Given the description of an element on the screen output the (x, y) to click on. 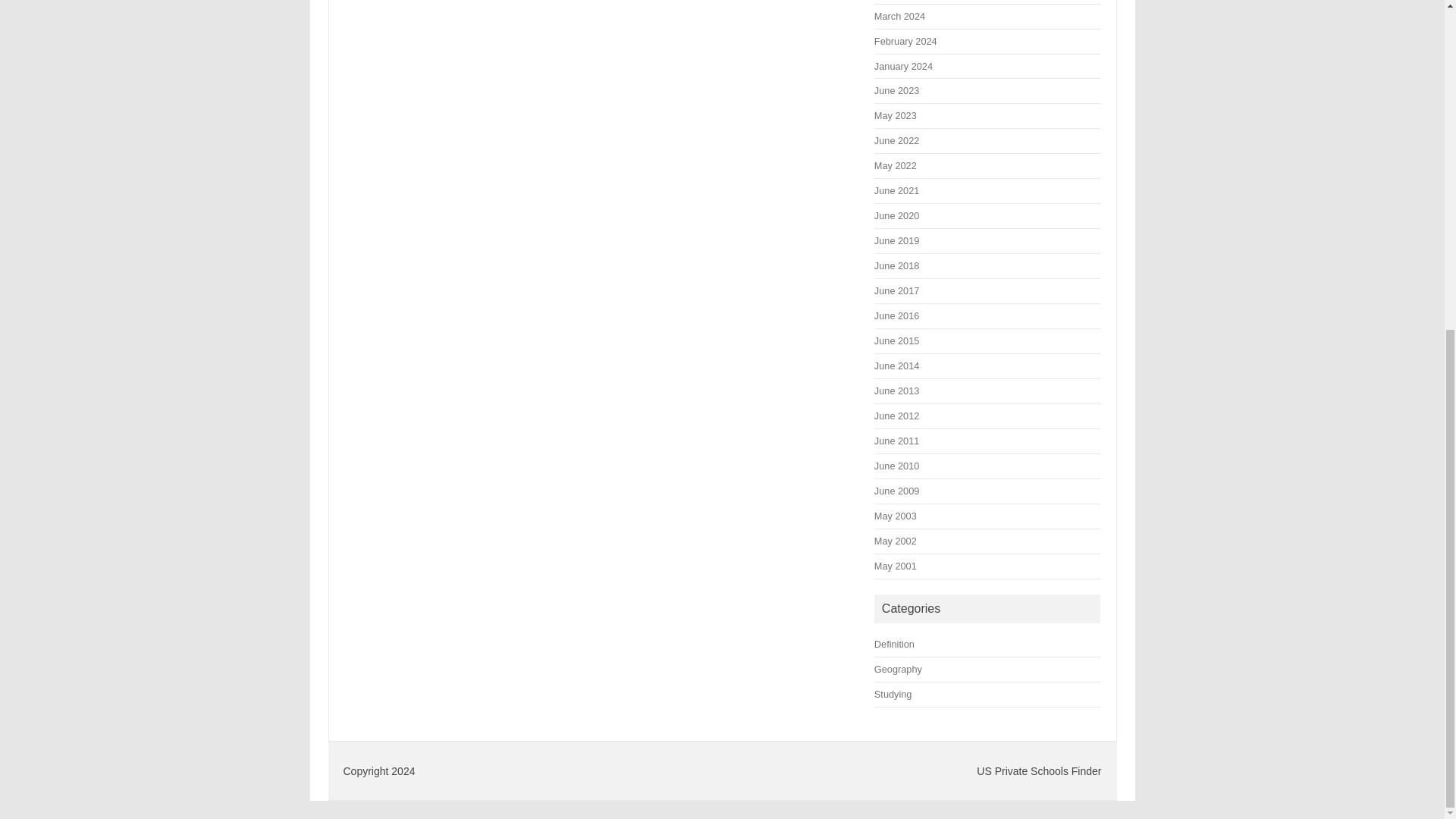
January 2024 (904, 66)
June 2014 (896, 365)
March 2024 (899, 16)
February 2024 (906, 41)
May 2023 (896, 115)
June 2013 (896, 390)
June 2021 (896, 190)
June 2016 (896, 315)
June 2015 (896, 340)
June 2022 (896, 140)
